Given the description of an element on the screen output the (x, y) to click on. 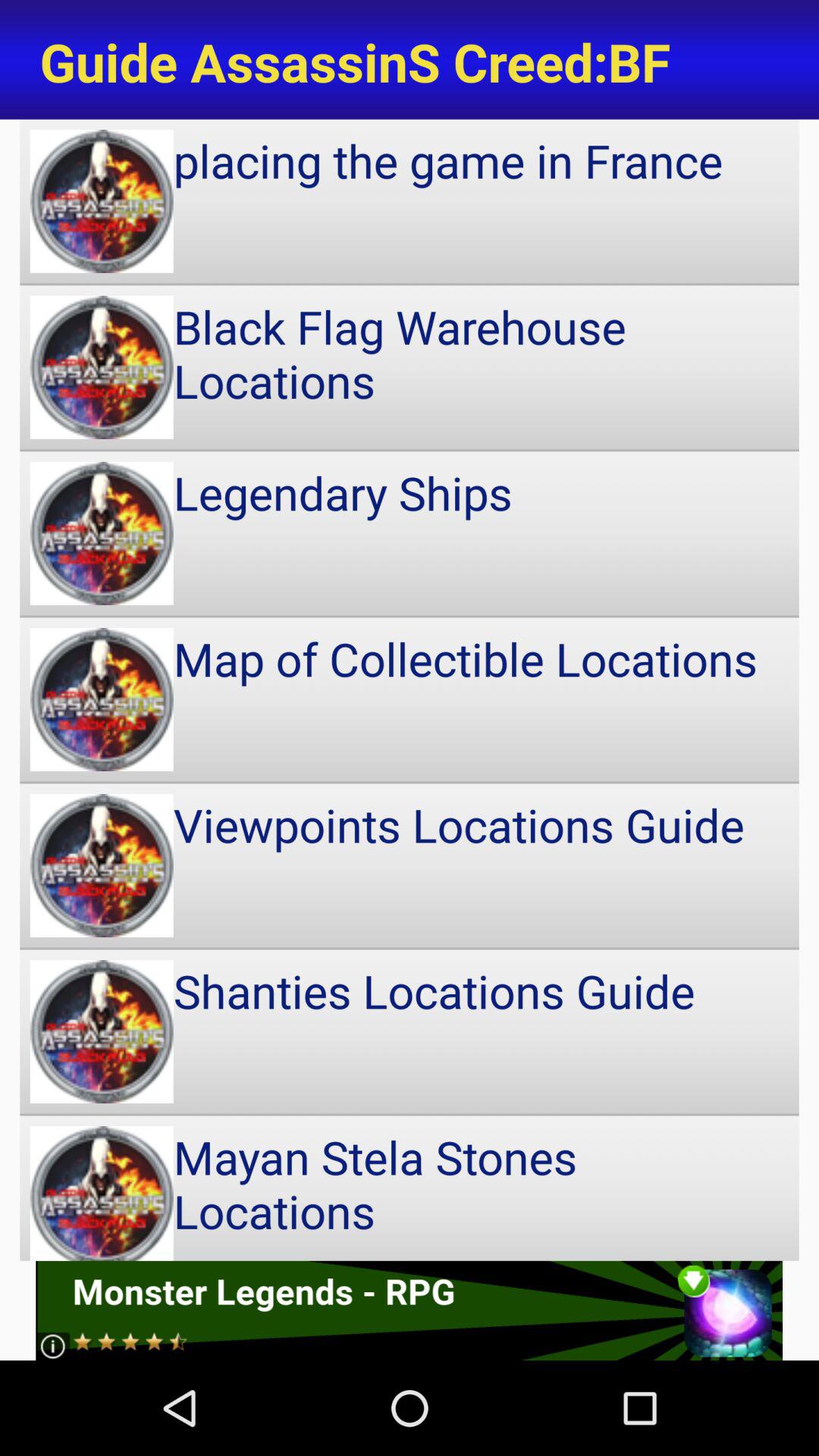
launch the icon below map of collectible icon (409, 865)
